Given the description of an element on the screen output the (x, y) to click on. 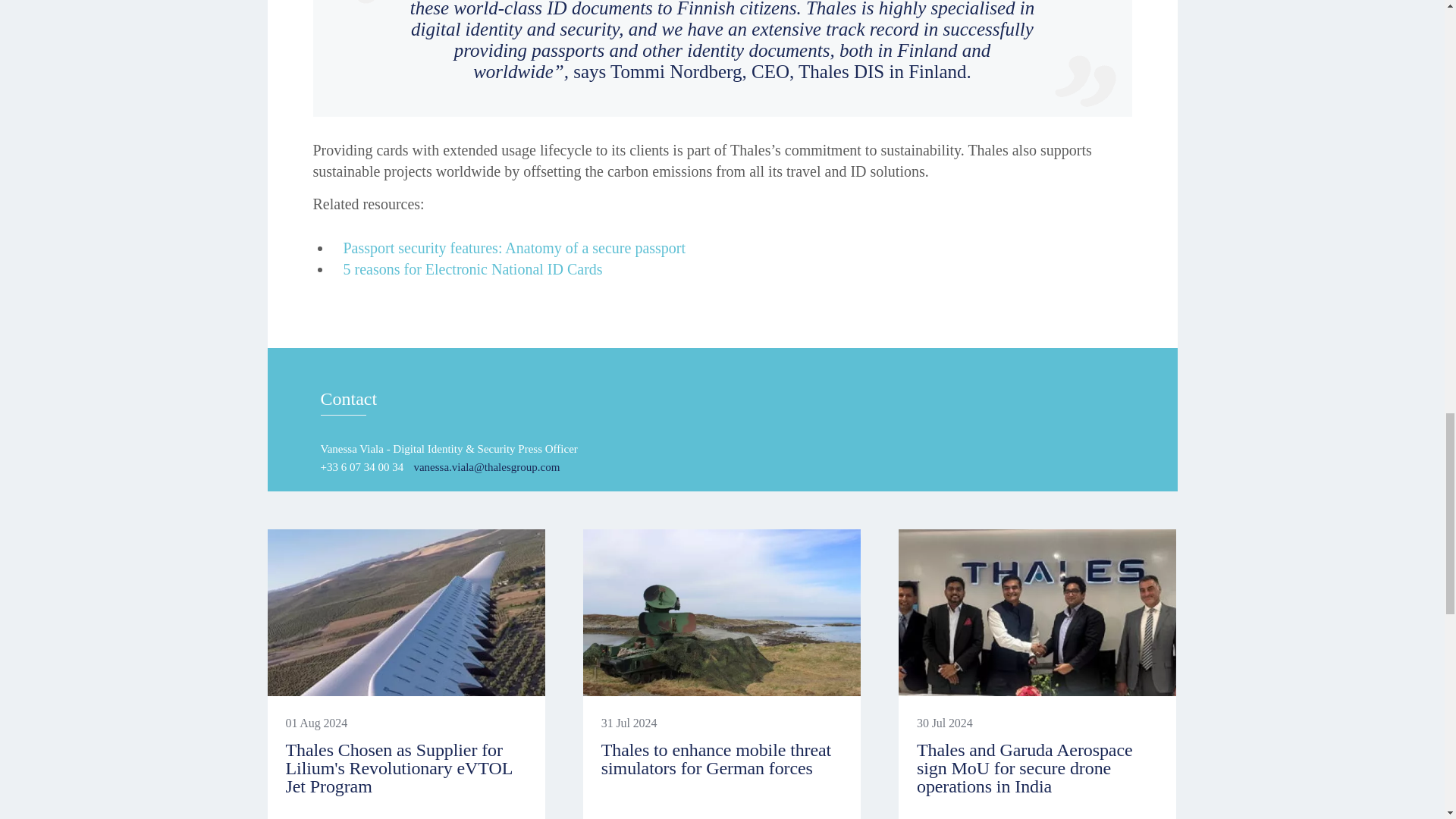
5 reasons for Electronic National ID Cards (472, 269)
Passport security features: Anatomy of a secure passport (513, 247)
Thales to enhance mobile threat simulators for German forces (716, 759)
